Given the description of an element on the screen output the (x, y) to click on. 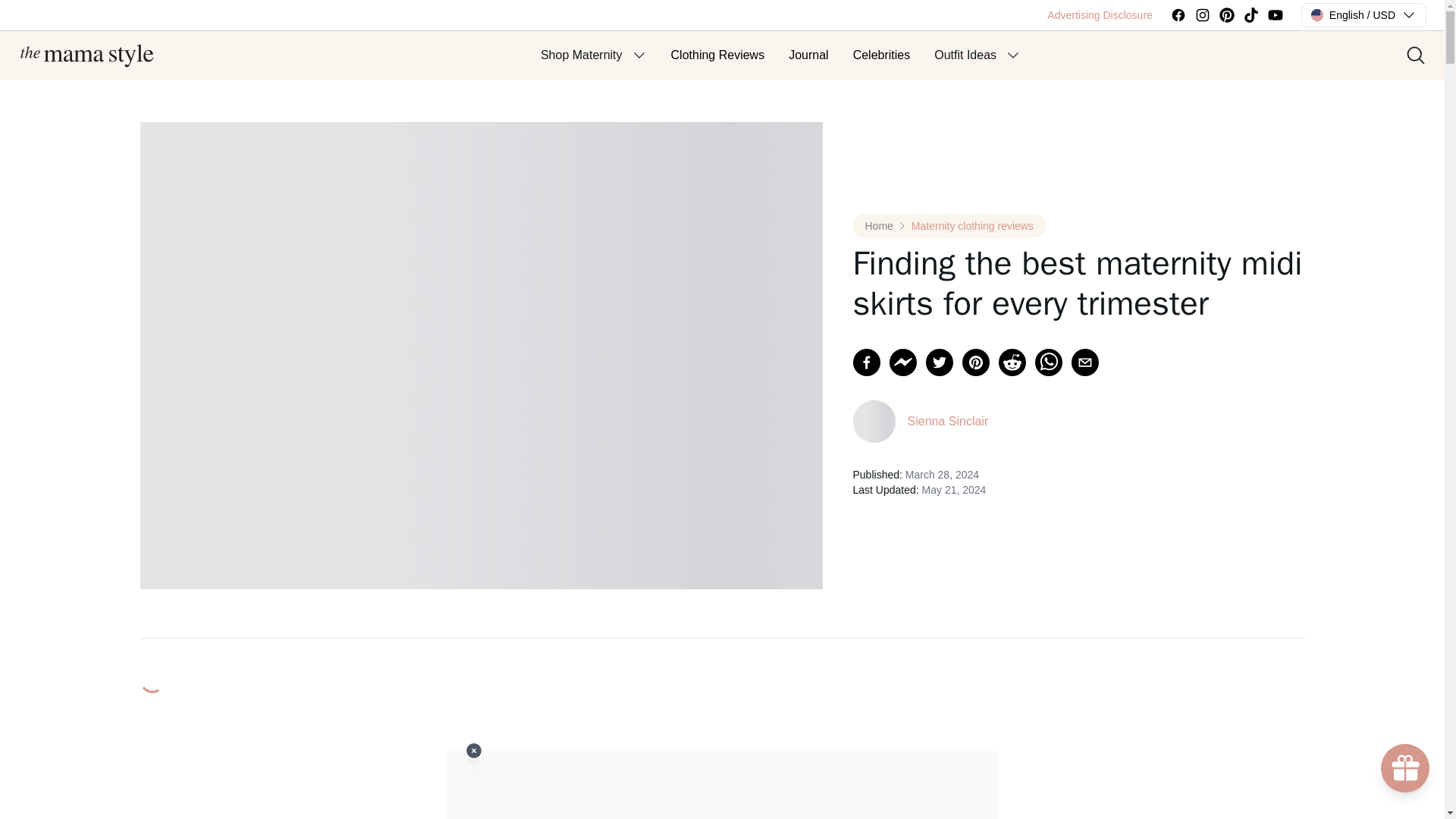
Advertising Disclosure (1099, 14)
Clothing Reviews (718, 54)
Celebrities (882, 54)
Journal (808, 54)
Shop Maternity (581, 54)
Outfit Ideas (964, 54)
Advertisement (721, 785)
